Given the description of an element on the screen output the (x, y) to click on. 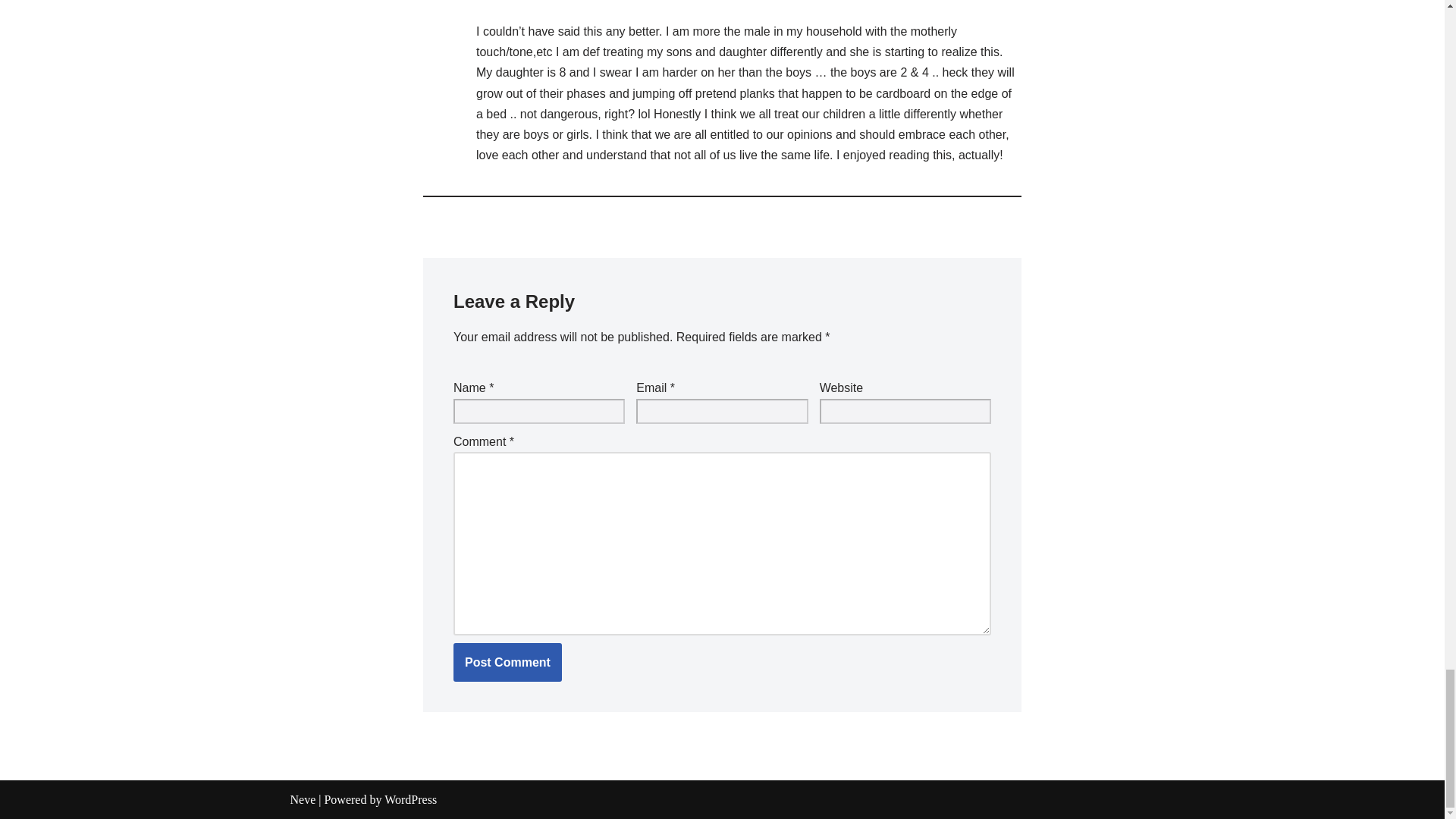
Post Comment (507, 662)
